Given the description of an element on the screen output the (x, y) to click on. 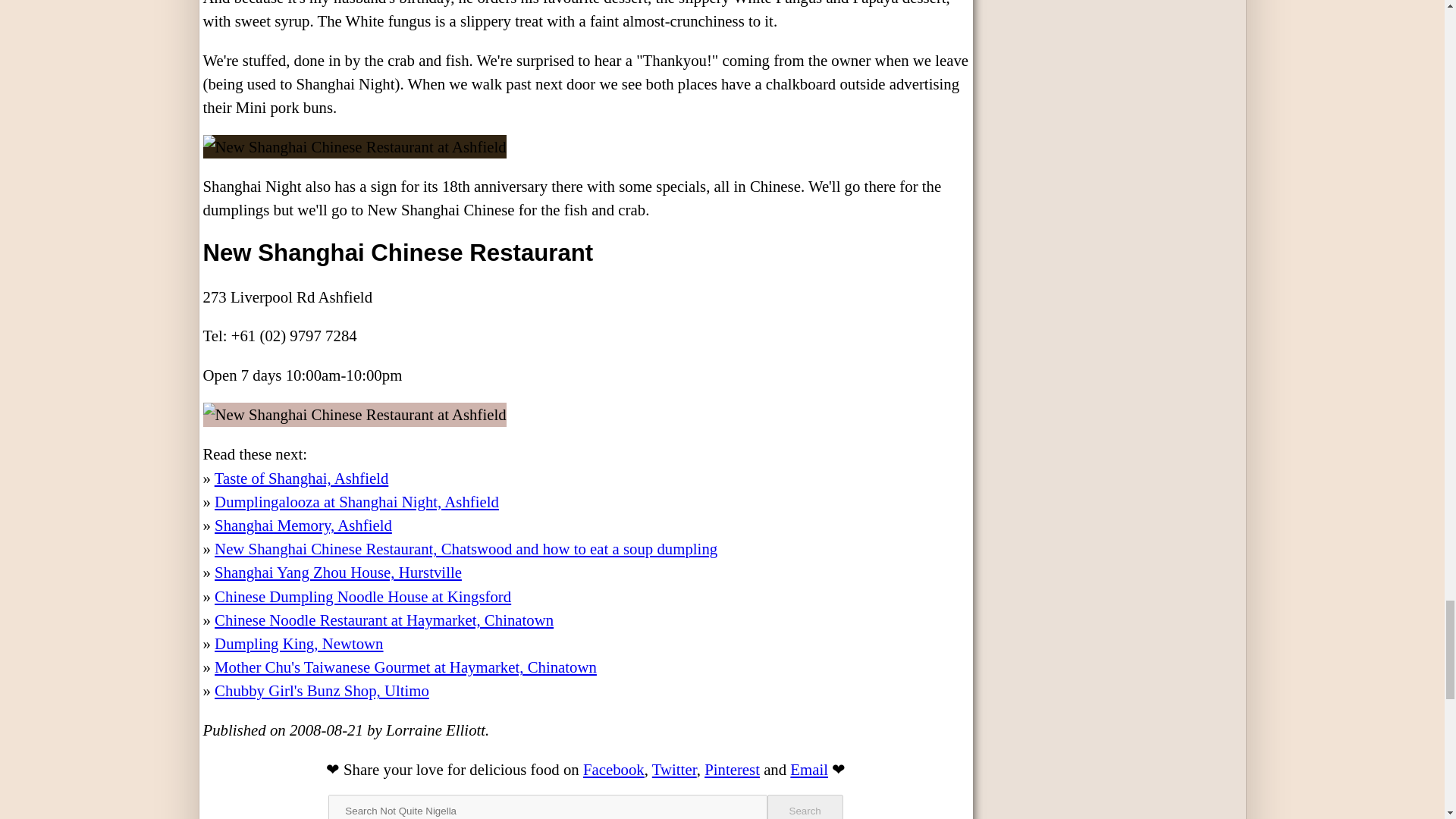
Taste of Shanghai, Ashfield (301, 477)
Facebook (614, 769)
Email (809, 769)
delicious food (513, 769)
Mother Chu's Taiwanese Gourmet at Haymarket, Chinatown (405, 666)
Chinese Noodle Restaurant at Haymarket, Chinatown (383, 619)
Share on Facebook (614, 769)
Search (805, 806)
Shanghai Memory, Ashfield (302, 524)
Dumplingalooza at Shanghai Night, Ashfield (356, 501)
Twitter (674, 769)
Search (805, 806)
Chinese Dumpling Noodle House at Kingsford (362, 596)
Dumpling King, Newtown (298, 642)
